Given the description of an element on the screen output the (x, y) to click on. 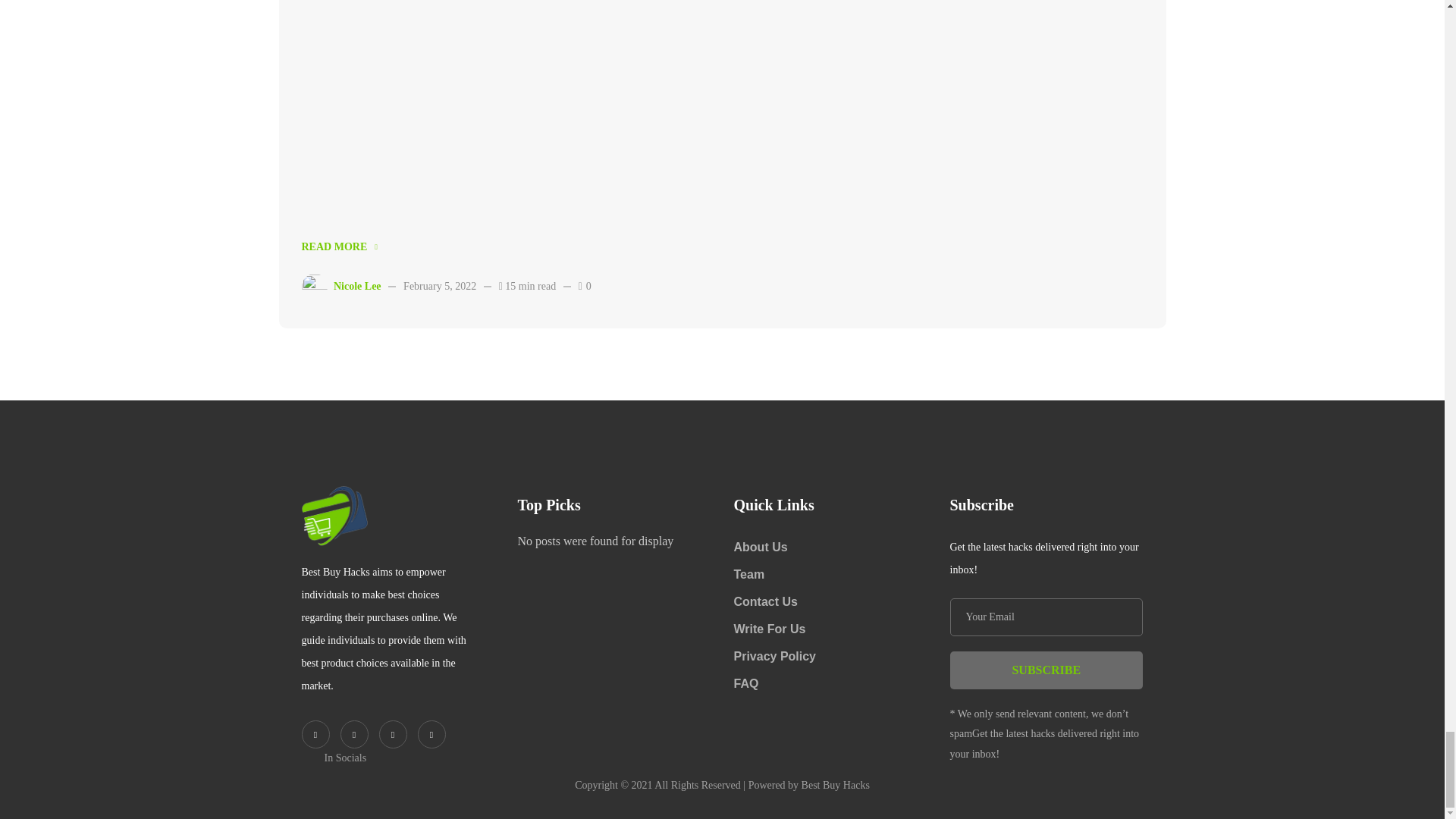
Facebook (353, 734)
Instagram (430, 734)
Pinterest (392, 734)
Twitter (315, 734)
